Given the description of an element on the screen output the (x, y) to click on. 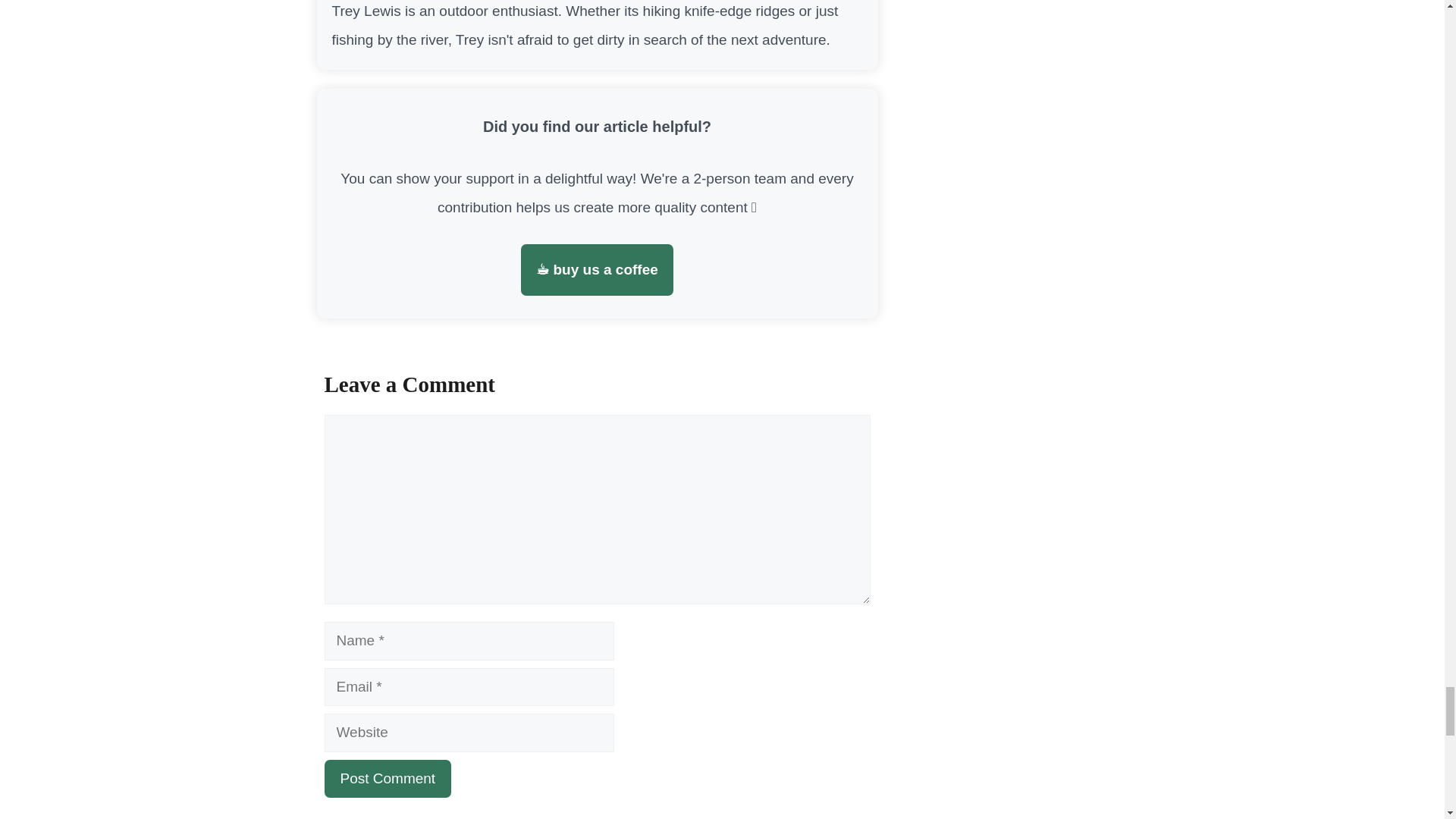
Post Comment (387, 779)
